Given the description of an element on the screen output the (x, y) to click on. 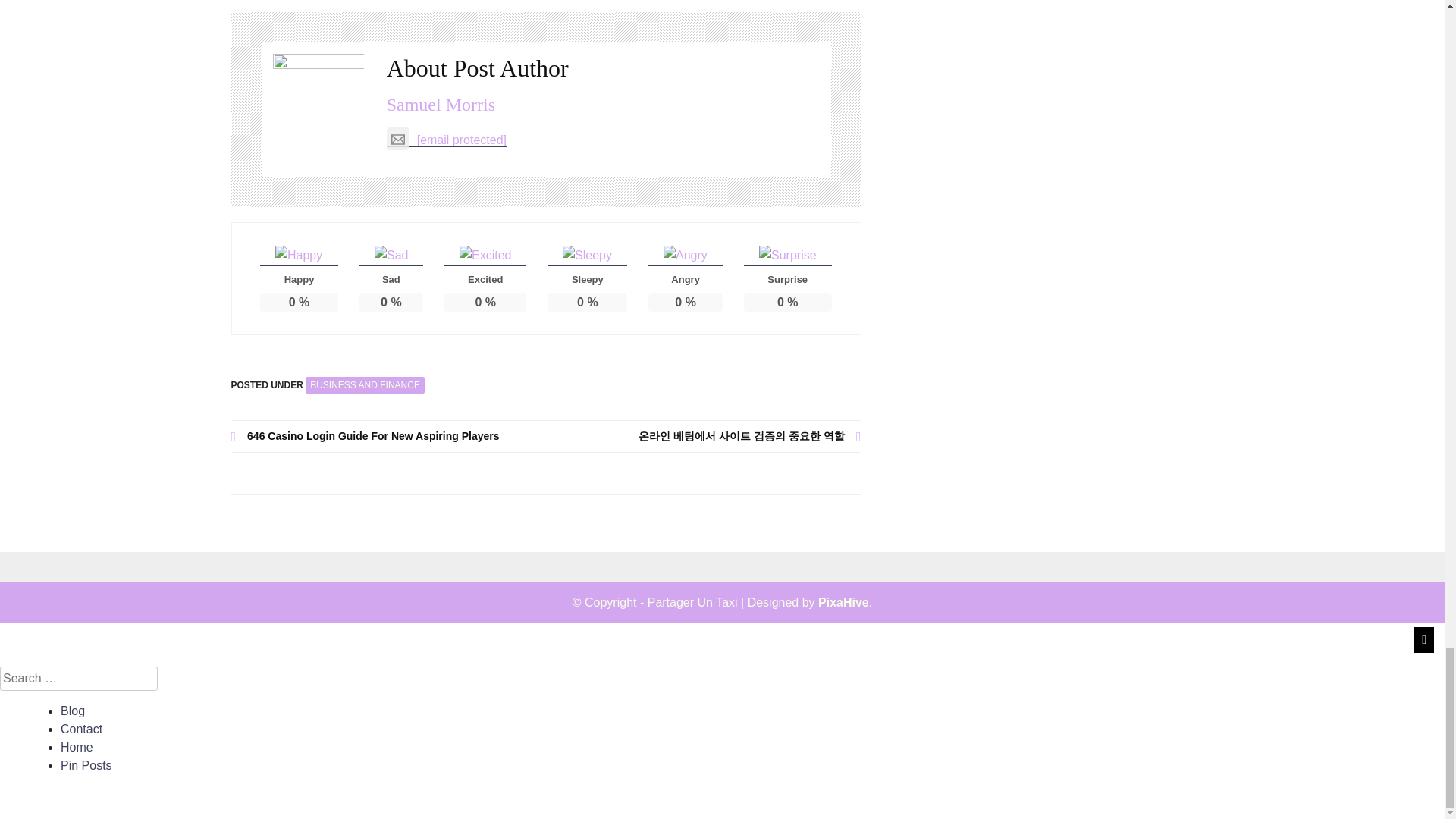
BUSINESS AND FINANCE (365, 384)
Samuel Morris (441, 105)
646 Casino Login Guide For New Aspiring Players (388, 436)
